Given the description of an element on the screen output the (x, y) to click on. 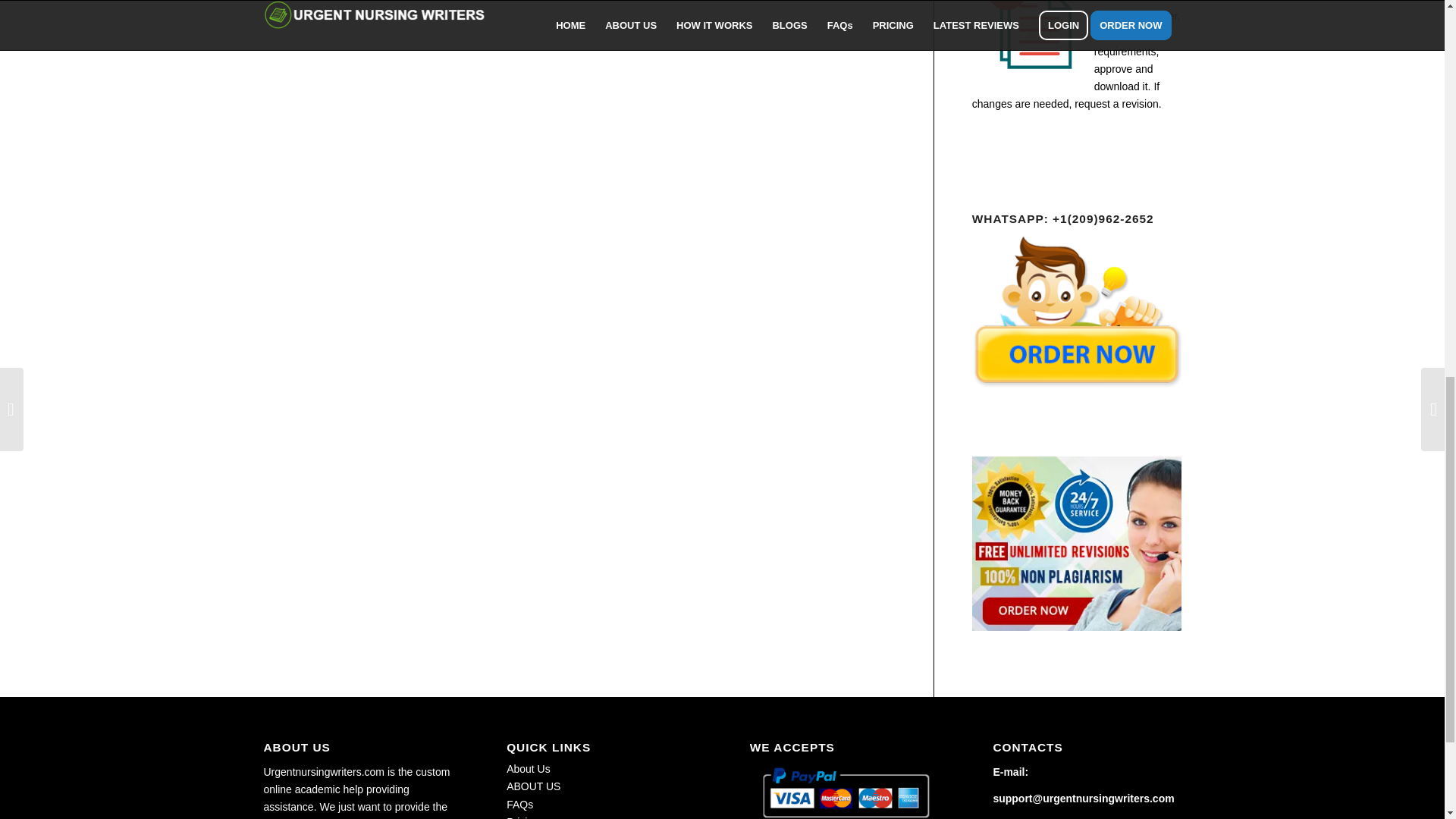
FAQs (519, 804)
About Us (528, 768)
Pricing (522, 817)
ABOUT US (533, 786)
